Given the description of an element on the screen output the (x, y) to click on. 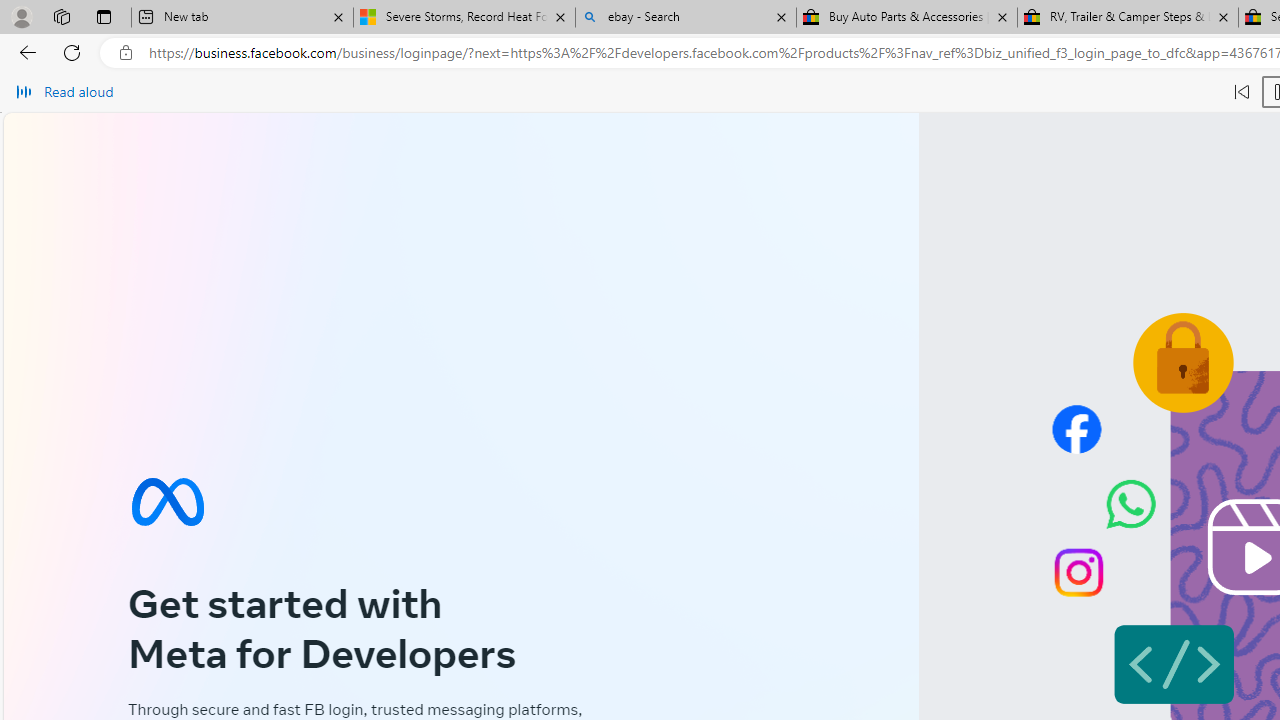
Meta symbol (167, 502)
Read previous paragraph (1241, 92)
